Given the description of an element on the screen output the (x, y) to click on. 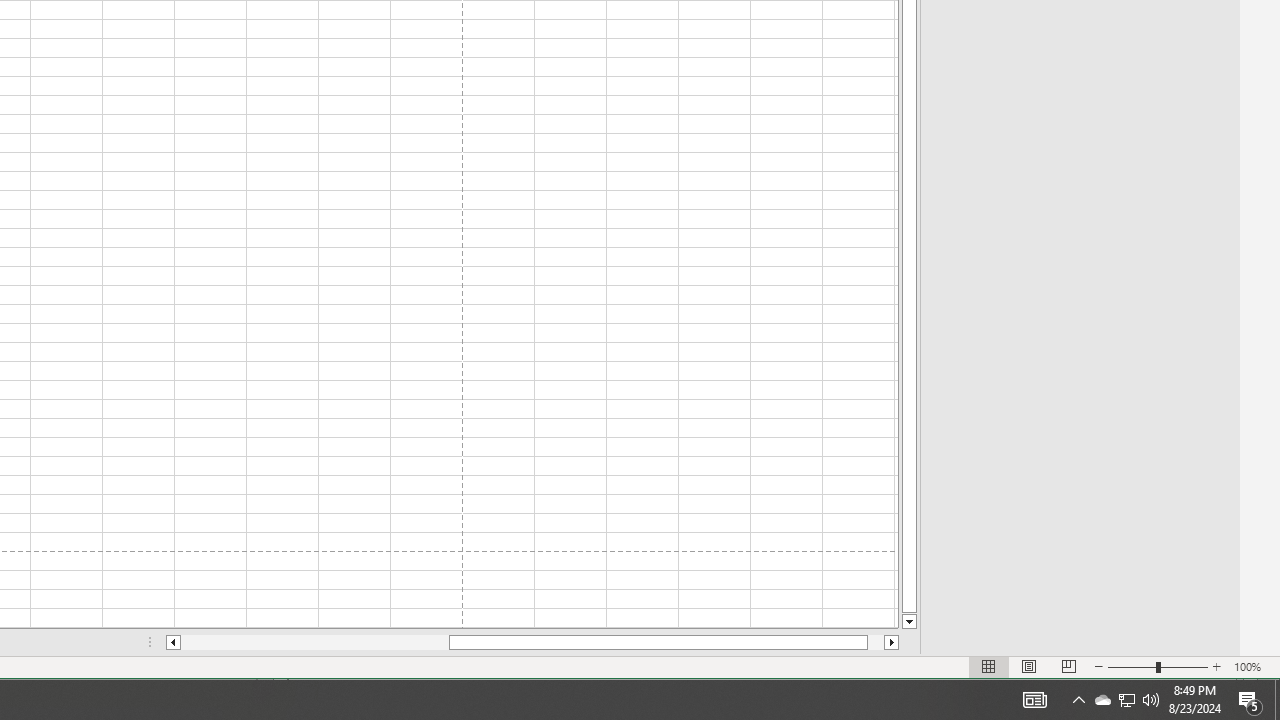
Notification Chevron (1126, 699)
User Promoted Notification Area (1078, 699)
Q2790: 100% (1102, 699)
AutomationID: 4105 (1126, 699)
Show desktop (1151, 699)
Page left (1034, 699)
